Given the description of an element on the screen output the (x, y) to click on. 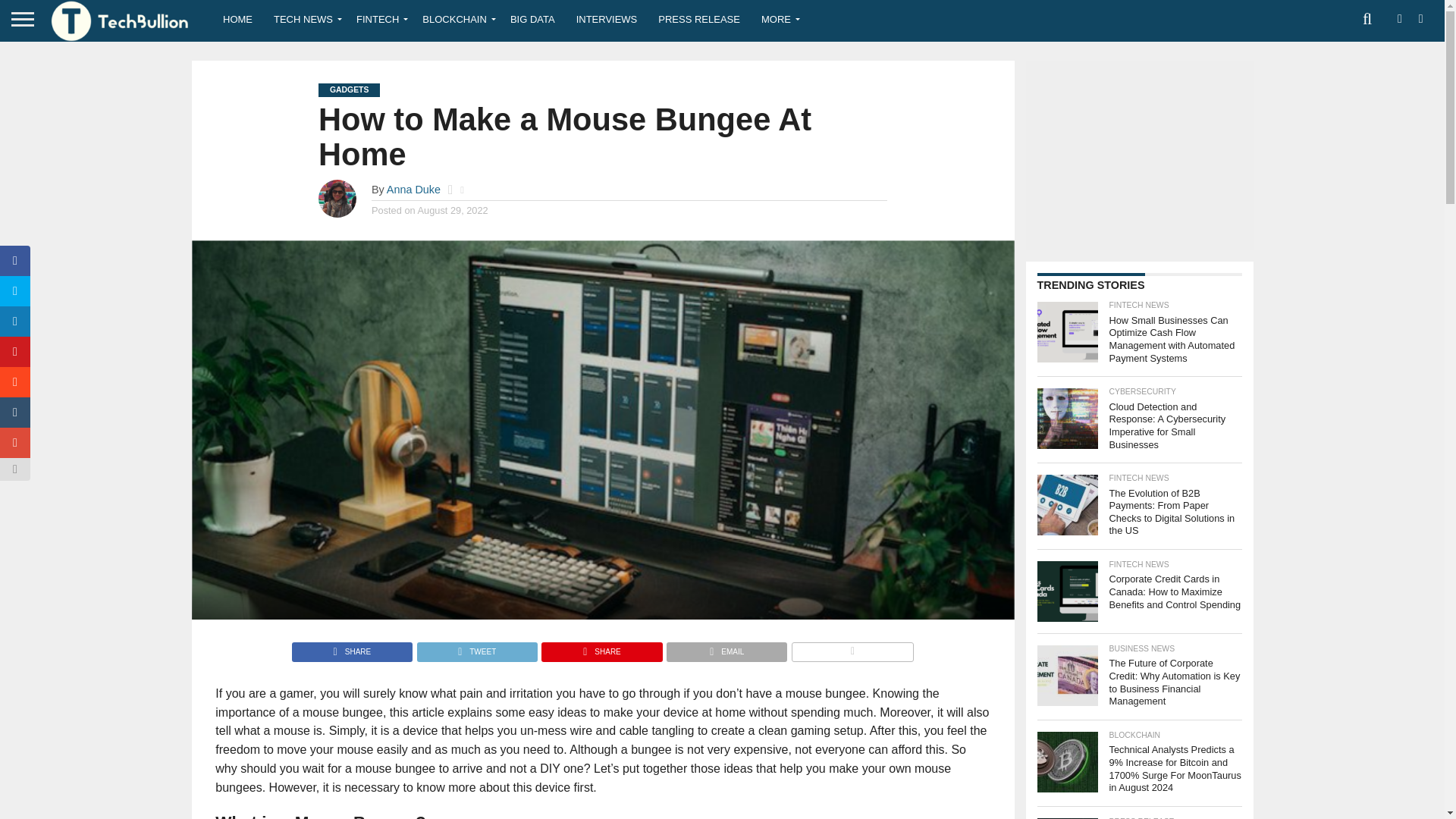
Tweet This Post (476, 647)
Posts by Anna Duke (414, 189)
Share on Facebook (352, 647)
Pin This Post (601, 647)
